Given the description of an element on the screen output the (x, y) to click on. 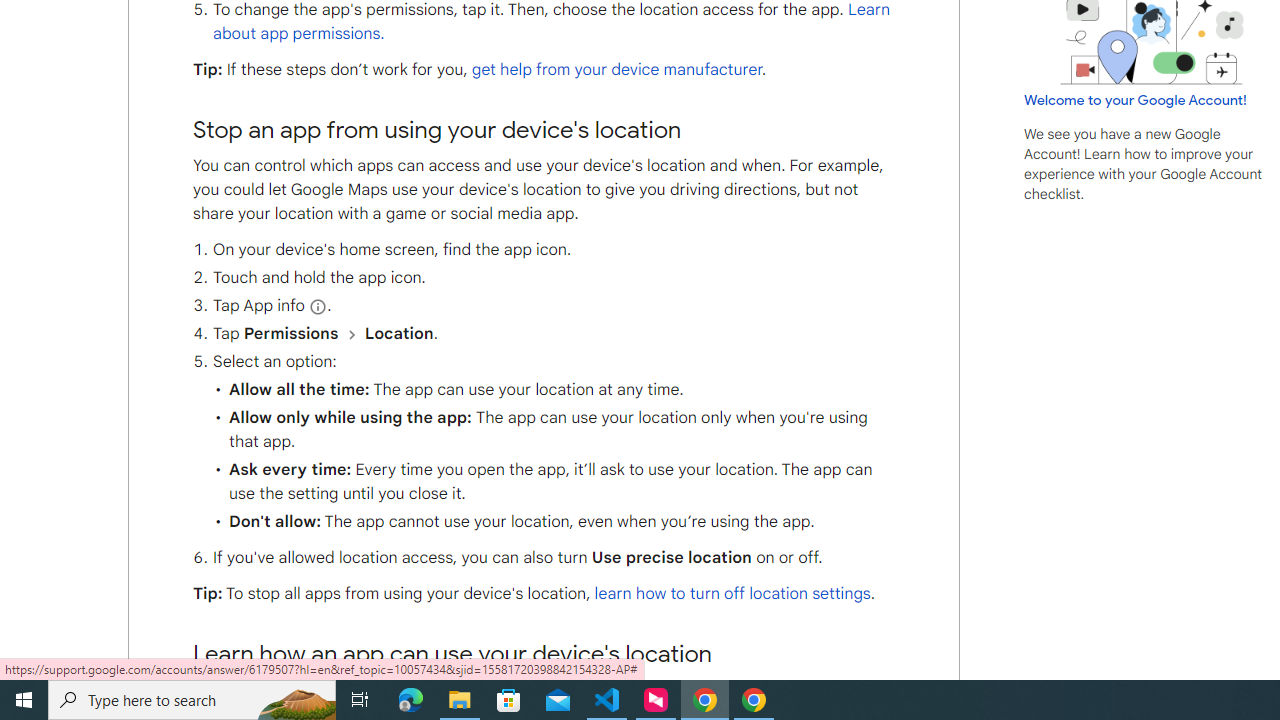
get help from your device manufacturer (616, 69)
learn how to turn off location settings (731, 593)
and then (350, 334)
Learn about app permissions. (551, 21)
Welcome to your Google Account! (1135, 99)
